Given the description of an element on the screen output the (x, y) to click on. 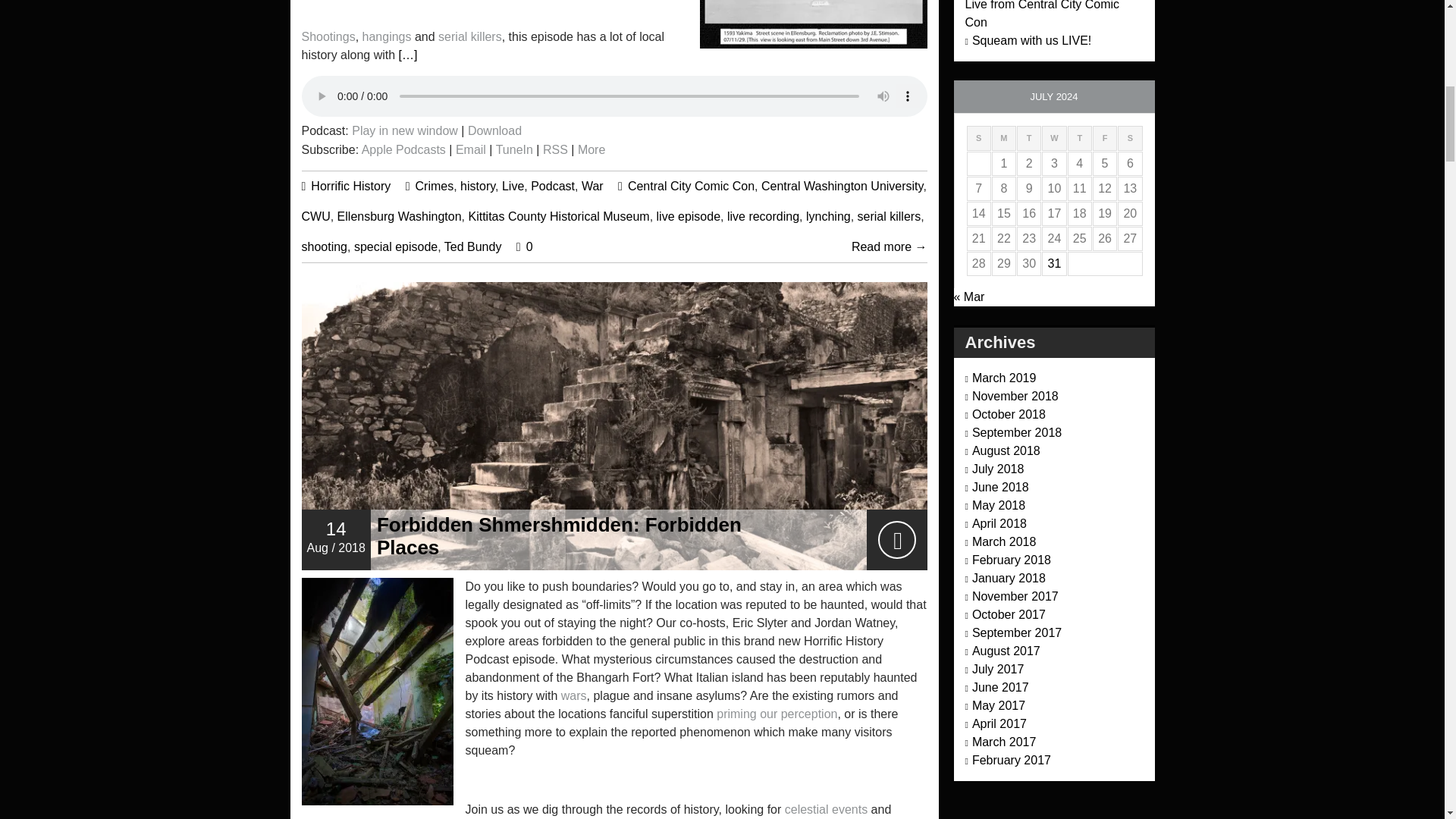
Subscribe by Email (470, 149)
More (591, 149)
Play in new window (405, 130)
Live (513, 185)
Podcast (553, 185)
Shootings (328, 36)
Download (494, 130)
serial killers (470, 36)
Subscribe via RSS (555, 149)
CWU (315, 215)
Download (494, 130)
hangings (387, 36)
More (591, 149)
Play in new window (405, 130)
Crimes (434, 185)
